Given the description of an element on the screen output the (x, y) to click on. 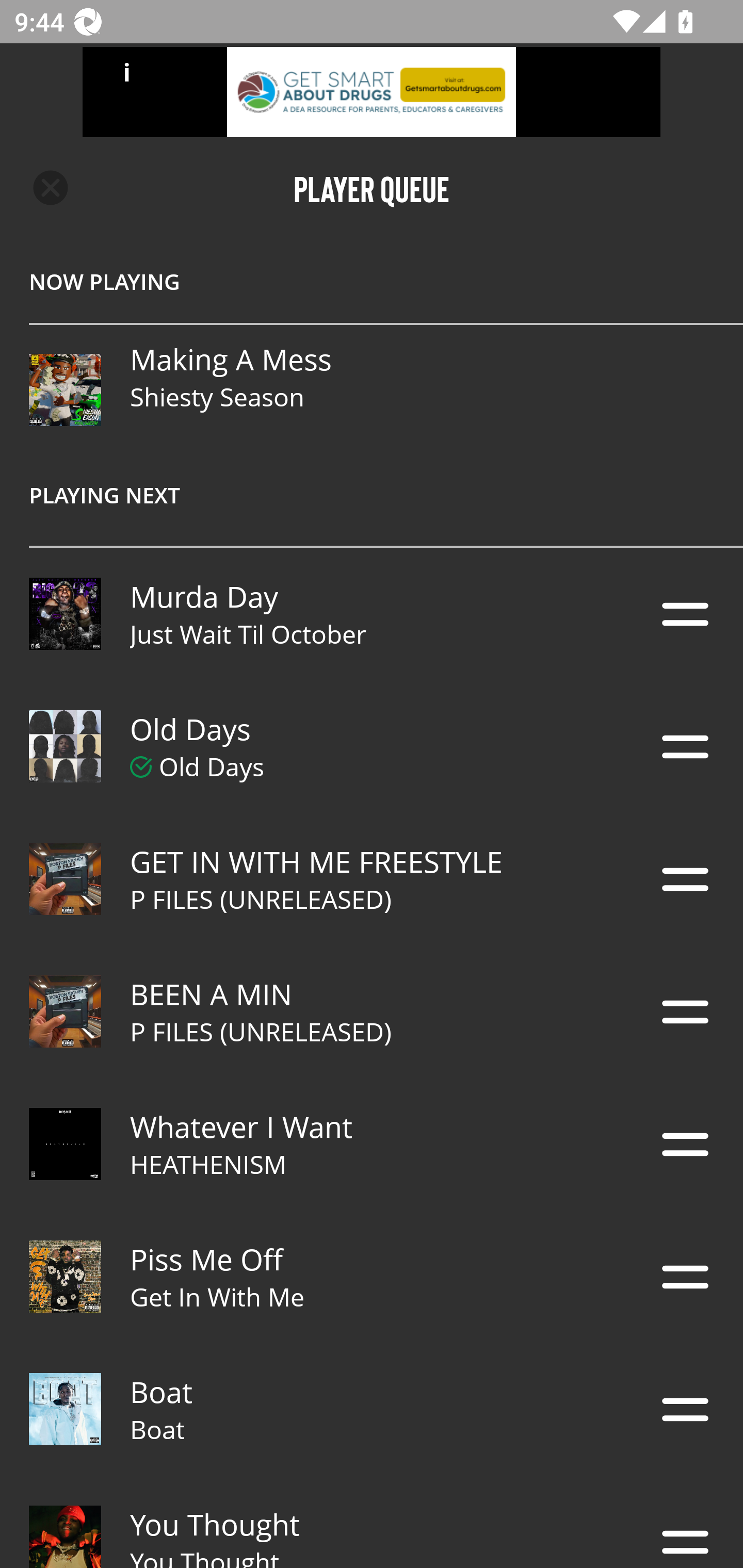
Navigate up (50, 187)
Description Whatever I Want HEATHENISM Description (371, 1144)
Description Piss Me Off Get In With Me Description (371, 1276)
Description Boat Boat Description (371, 1409)
Description You Thought You Thought Description (371, 1521)
